Given the description of an element on the screen output the (x, y) to click on. 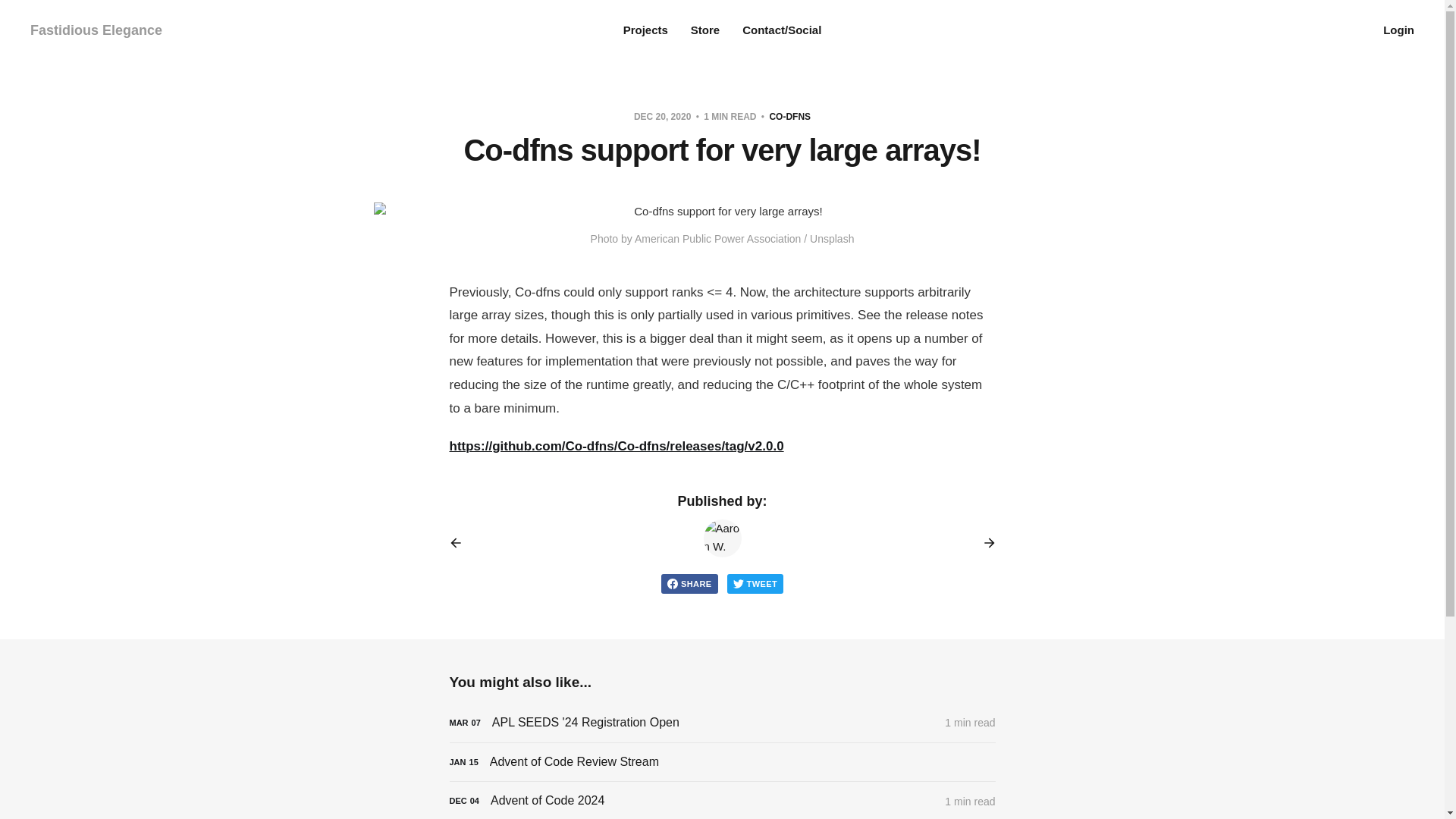
American Public Power Association (717, 238)
CO-DFNS (789, 116)
Projects (645, 30)
SHARE (689, 583)
Unsplash (831, 238)
TWEET (755, 583)
Login (1398, 30)
Fastidious Elegance (95, 30)
Store (704, 30)
